Given the description of an element on the screen output the (x, y) to click on. 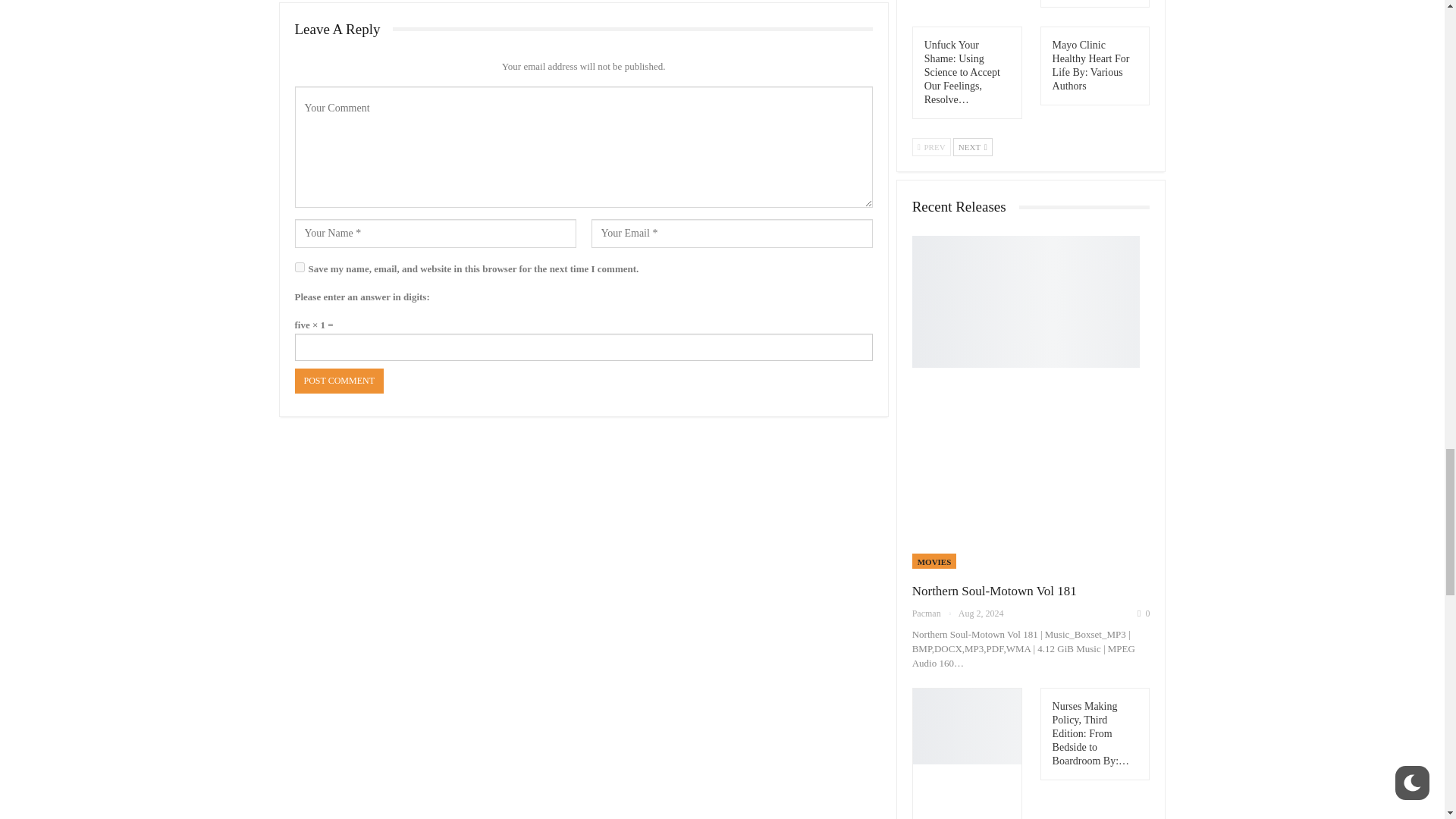
yes (299, 266)
Post Comment (338, 380)
